Given the description of an element on the screen output the (x, y) to click on. 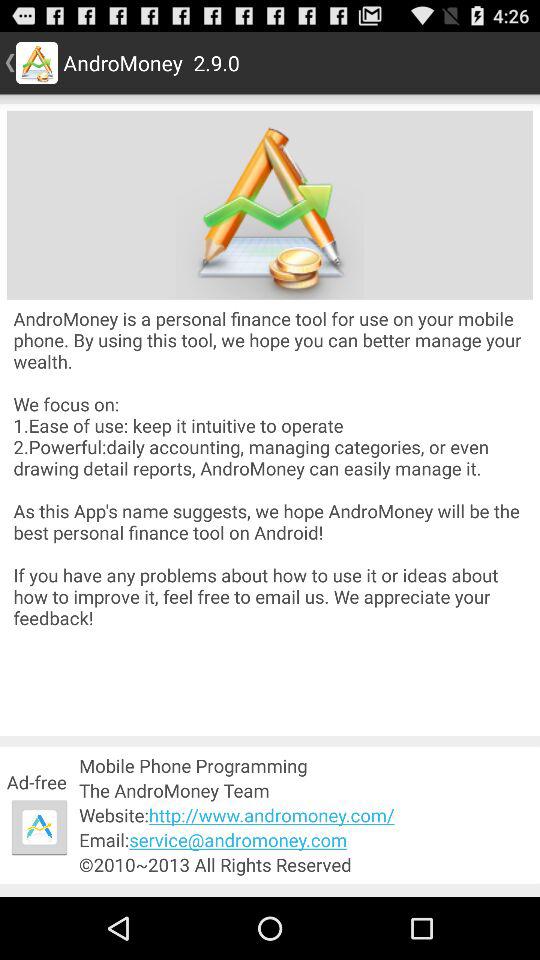
turn off the icon above the 2010 2013 all (306, 839)
